Given the description of an element on the screen output the (x, y) to click on. 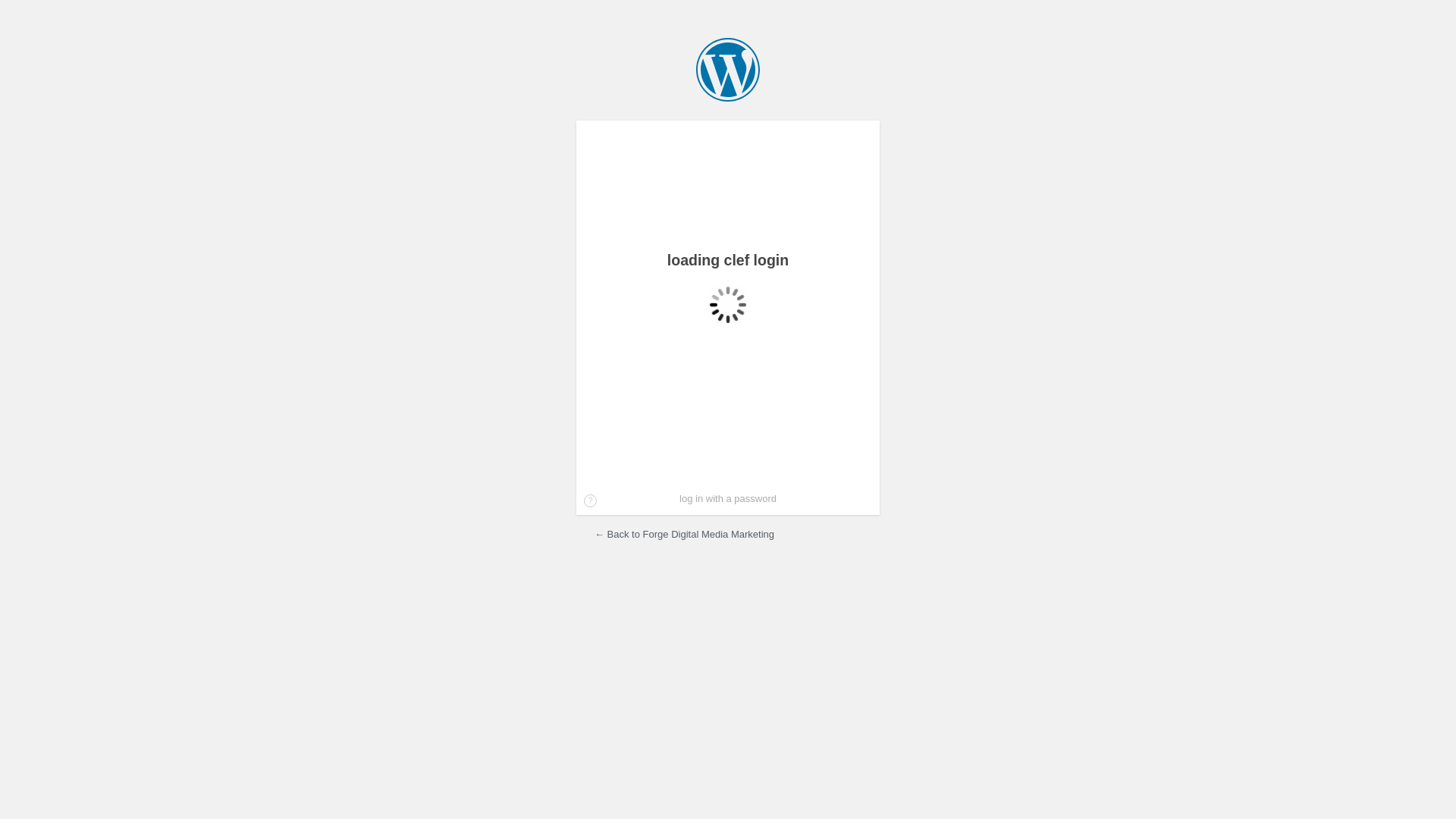
Log In Element type: text (837, 265)
log in with a password Element type: text (727, 498)
Forge Digital Media Marketing Element type: text (727, 69)
